Given the description of an element on the screen output the (x, y) to click on. 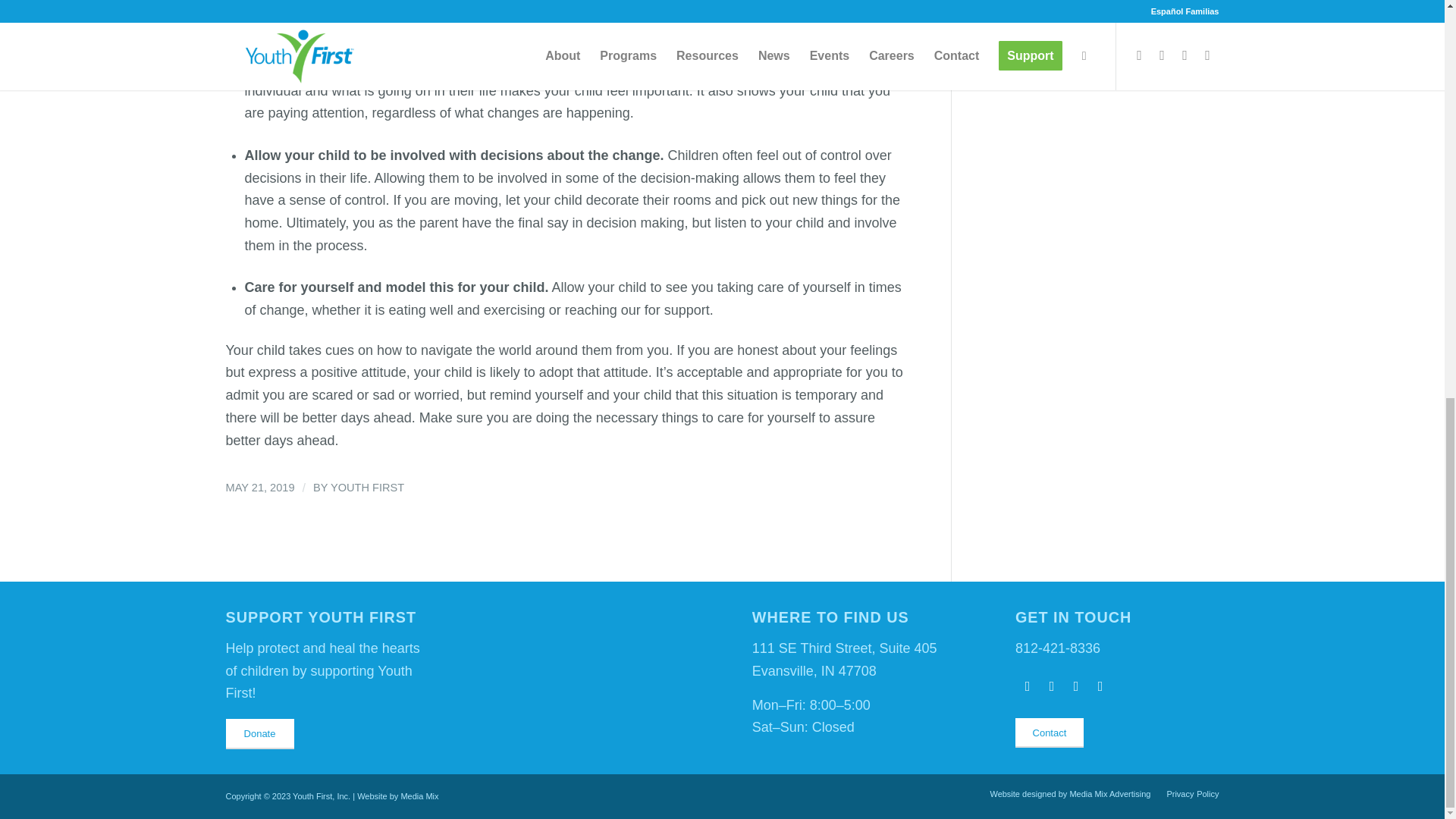
Posts by Youth First (367, 487)
